Given the description of an element on the screen output the (x, y) to click on. 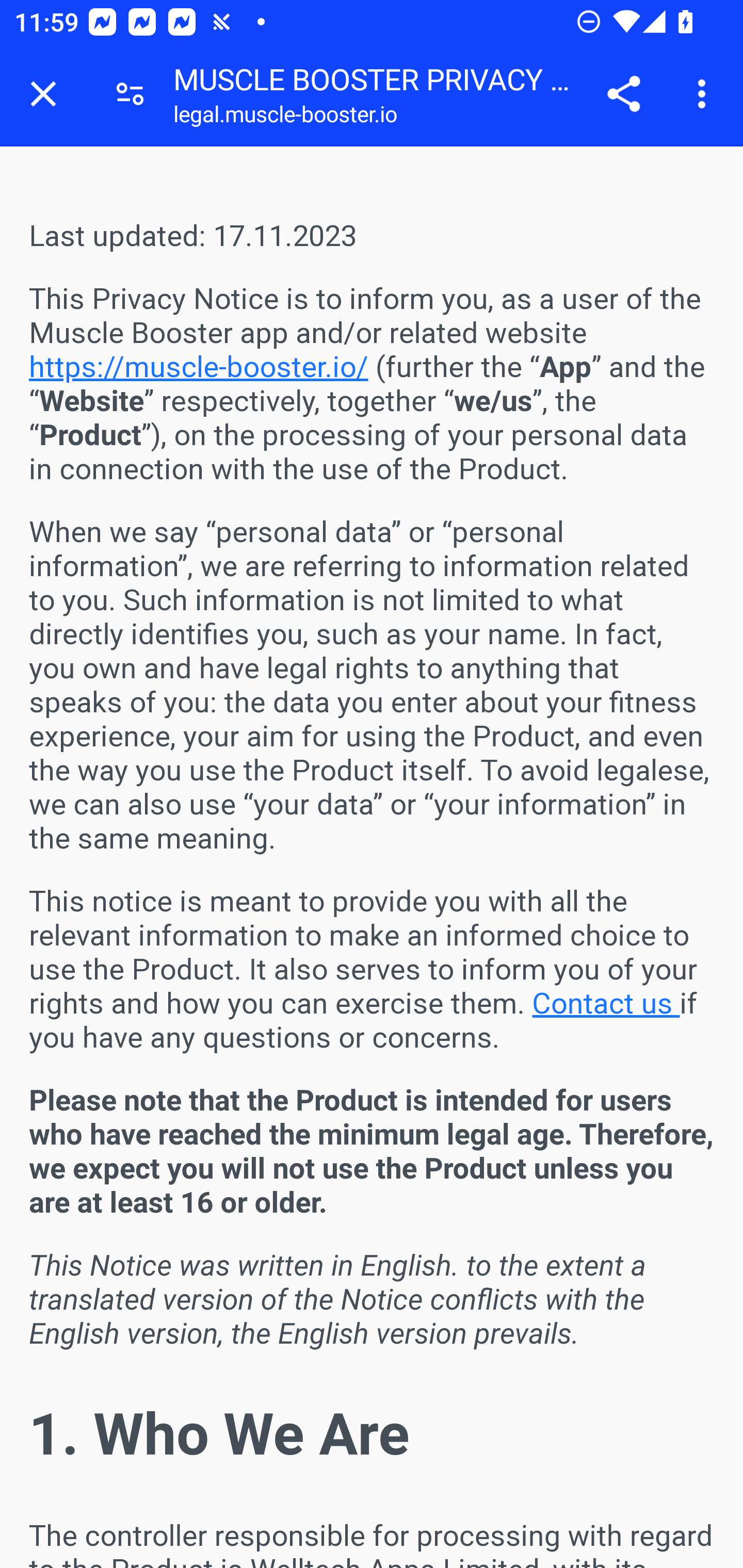
Close tab (43, 93)
Share (623, 93)
Customize and control Google Chrome (705, 93)
Connection is secure (129, 93)
legal.muscle-booster.io (285, 117)
https://muscle-booster.io/ (199, 366)
Contact us  (605, 1004)
